Given the description of an element on the screen output the (x, y) to click on. 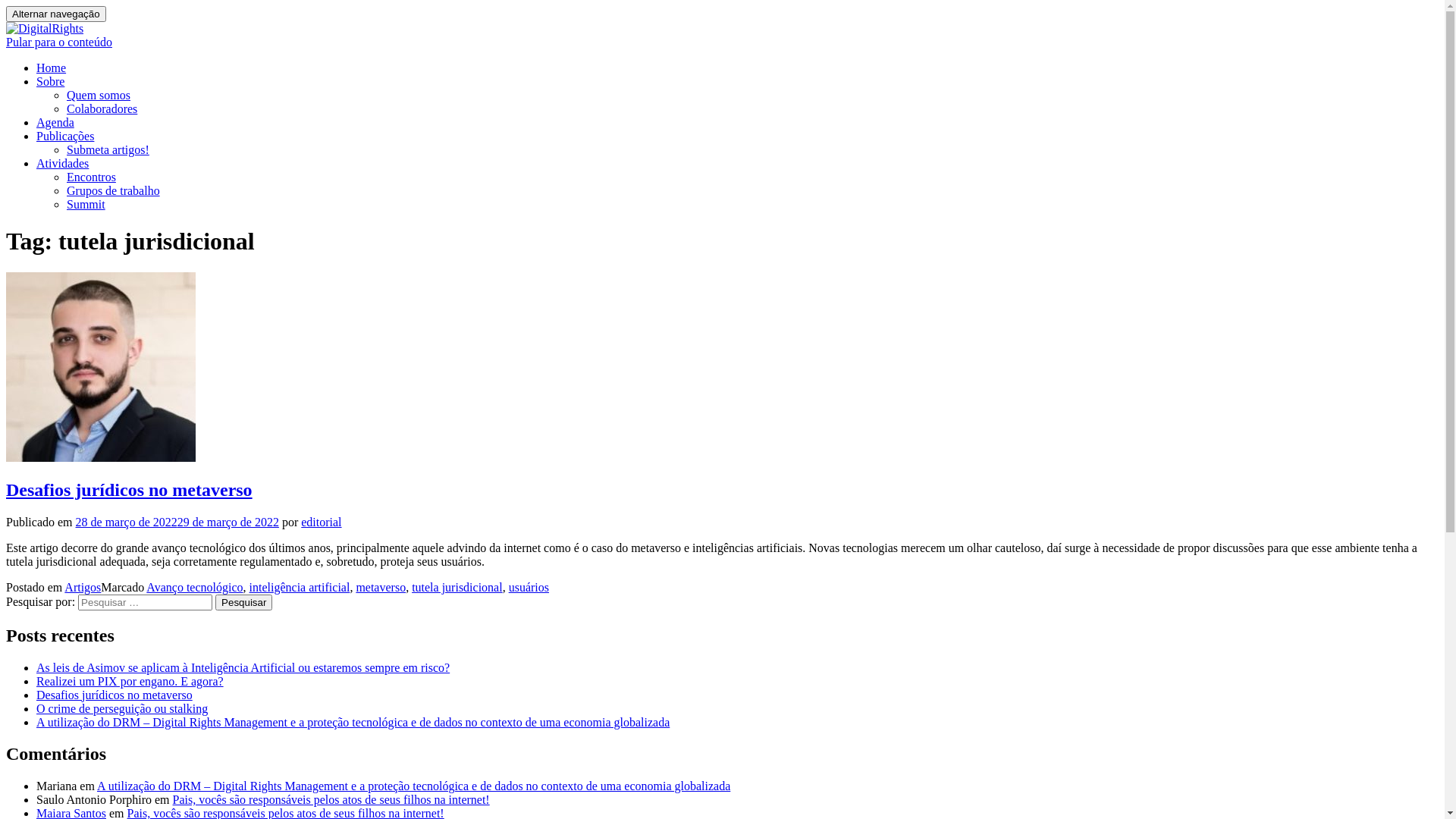
Agenda Element type: text (55, 122)
Pesquisar Element type: text (243, 602)
Summit Element type: text (85, 203)
Colaboradores Element type: text (101, 108)
Realizei um PIX por engano. E agora? Element type: text (129, 680)
Sobre Element type: text (50, 81)
Home Element type: text (50, 67)
metaverso Element type: text (380, 586)
editorial Element type: text (321, 521)
Quem somos Element type: text (98, 94)
Atividades Element type: text (62, 162)
tutela jurisdicional Element type: text (456, 586)
Artigos Element type: text (82, 586)
Encontros Element type: text (91, 176)
Submeta artigos! Element type: text (107, 149)
Grupos de trabalho Element type: text (113, 190)
